Given the description of an element on the screen output the (x, y) to click on. 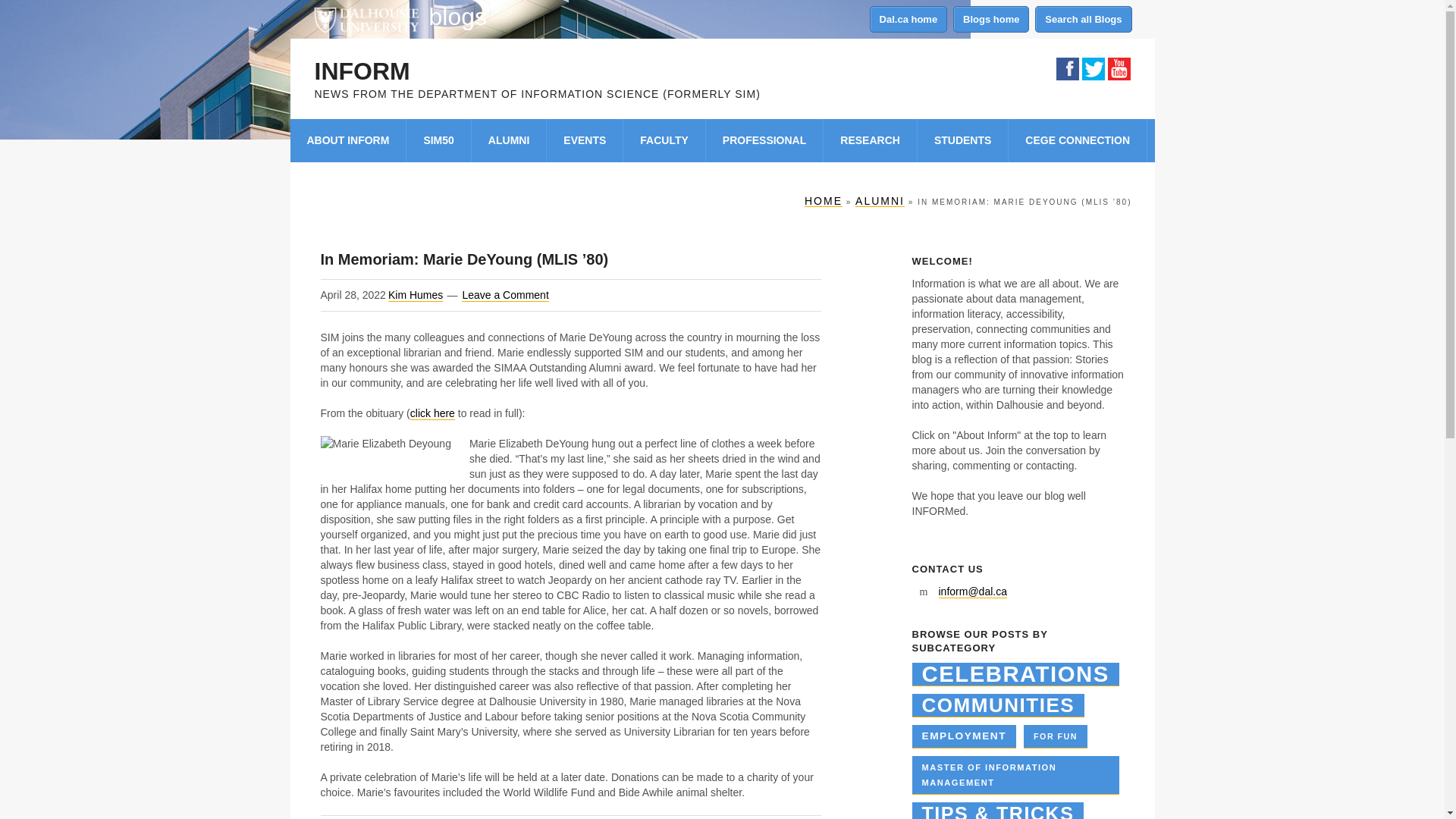
Kim Humes (415, 295)
click here (432, 413)
L (1092, 68)
ALUMNI (880, 202)
X (1117, 68)
STUDENTS (963, 140)
ABOUT INFORM (347, 140)
CEGE CONNECTION (1078, 140)
ALUMNI (509, 140)
twitter (1092, 68)
Leave a Comment (504, 295)
Dalhousie University (365, 18)
FACULTY (664, 140)
blogs (458, 16)
INFORM (361, 71)
